Given the description of an element on the screen output the (x, y) to click on. 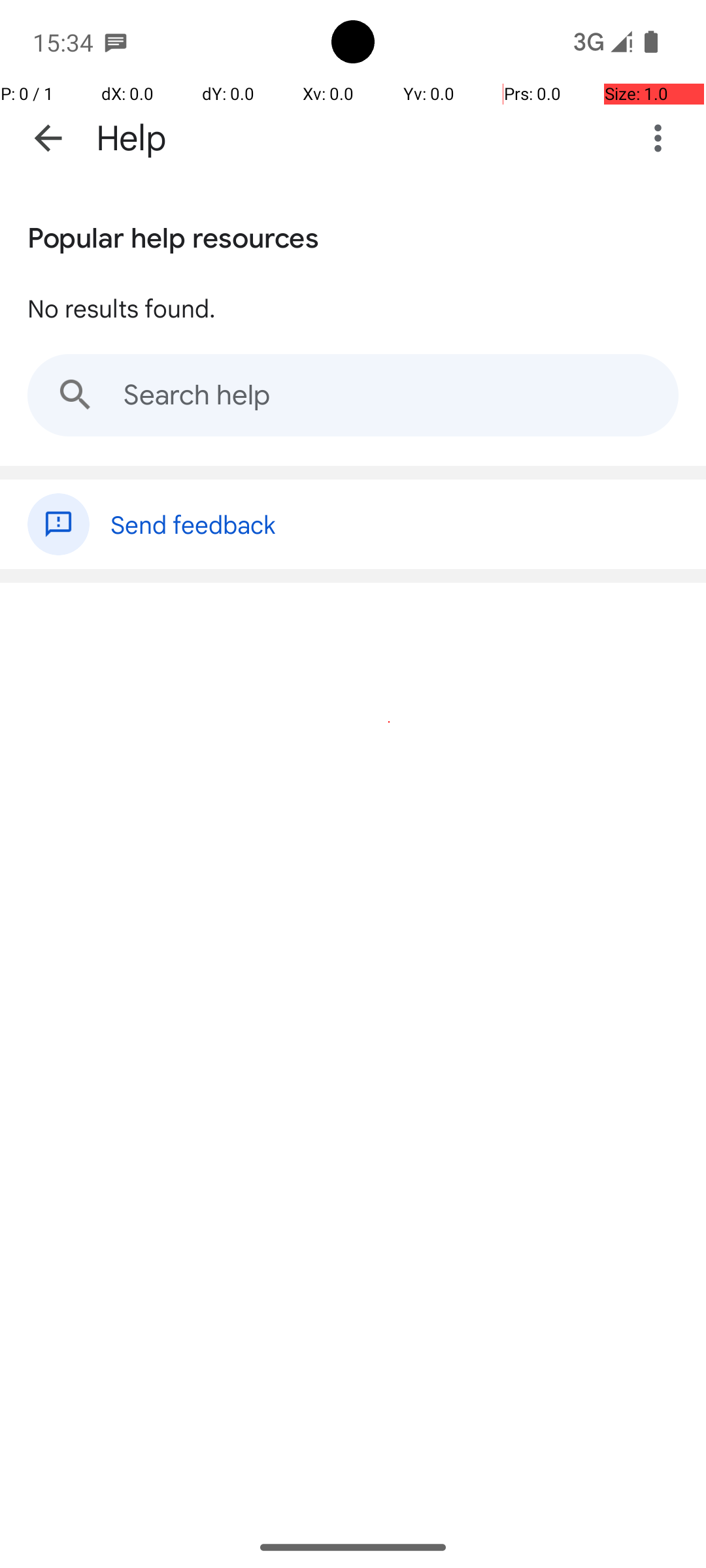
Popular help resources Element type: android.widget.TextView (173, 235)
Search help Element type: androidx.cardview.widget.CardView (352, 395)
No results found. Element type: android.widget.TextView (121, 307)
SMS Messenger notification: Martin Chen Element type: android.widget.ImageView (115, 41)
